Given the description of an element on the screen output the (x, y) to click on. 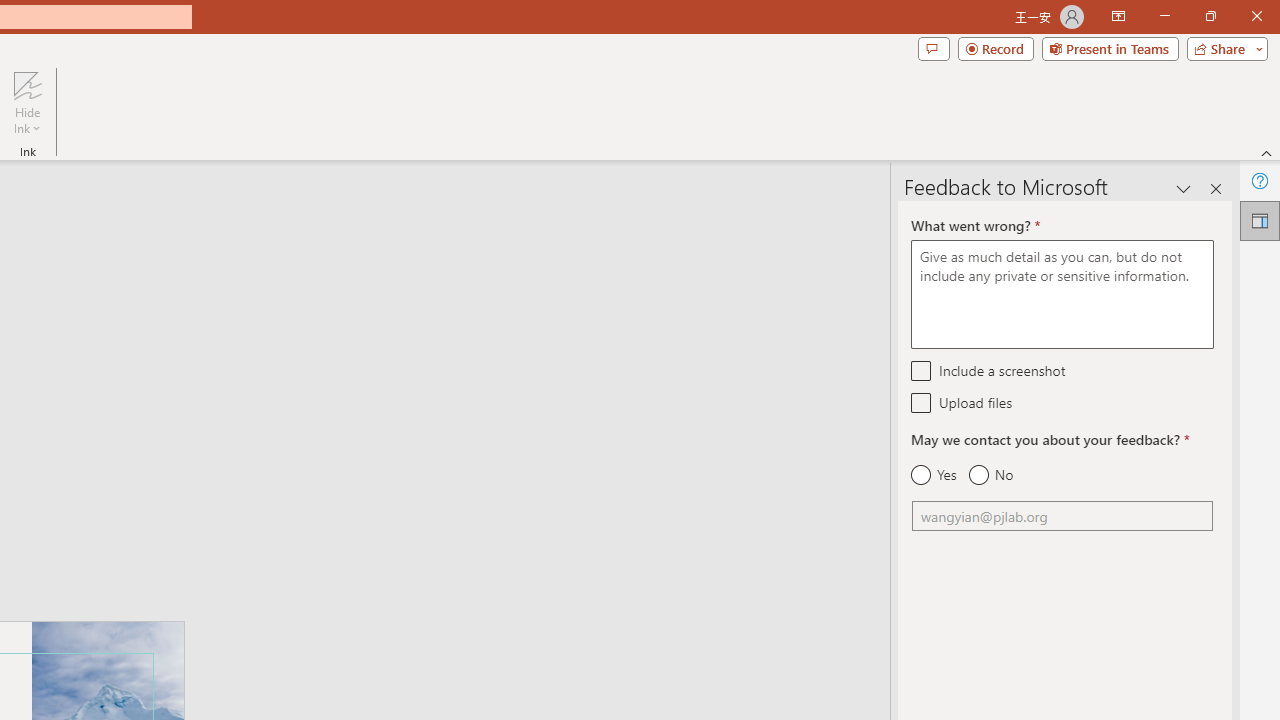
Yes (934, 475)
Close pane (1215, 188)
Email (1062, 516)
Hide Ink (27, 84)
Restore Down (1210, 16)
Include a screenshot (921, 370)
No (990, 475)
Collapse the Ribbon (1267, 152)
What went wrong? * (1062, 294)
Feedback to Microsoft (1260, 220)
